Given the description of an element on the screen output the (x, y) to click on. 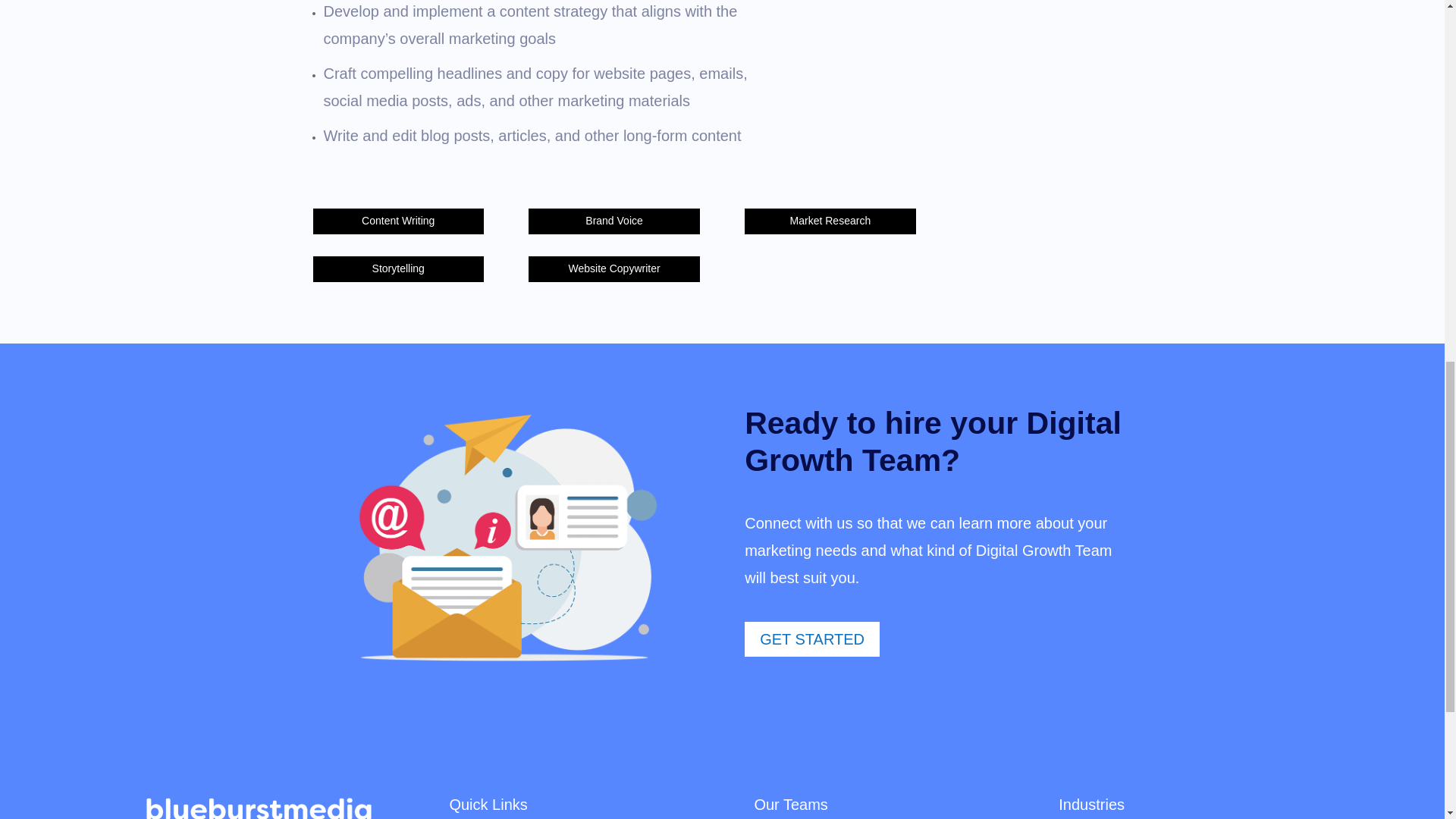
contact-vector (505, 539)
GET STARTED (811, 638)
bbm-white-logo copy (257, 807)
